Given the description of an element on the screen output the (x, y) to click on. 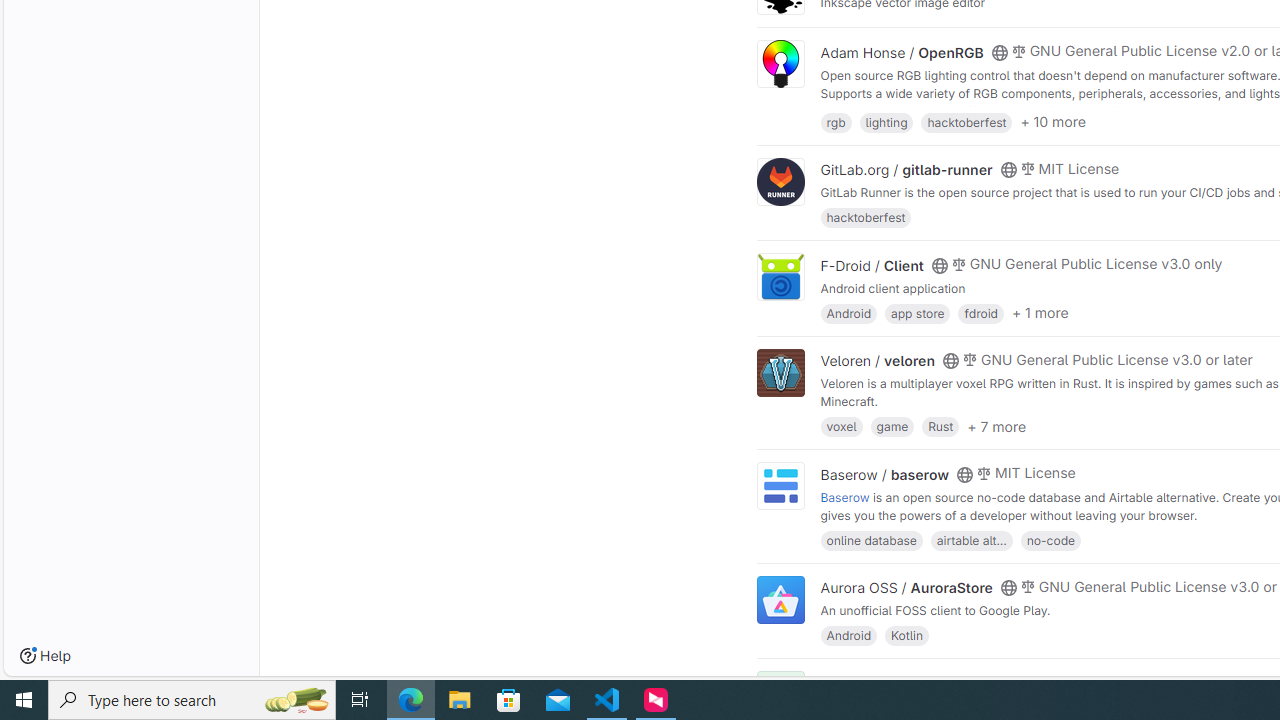
online database (871, 539)
F-Droid / Client (872, 265)
airtable alt... (971, 539)
+ 7 more (996, 425)
game (892, 426)
GitLab.org / gitlab-runner (906, 170)
no-code (1050, 539)
Edouard Klein / falsisign (902, 682)
hacktoberfest (866, 217)
app store (917, 312)
Rust (940, 426)
Help (45, 655)
Class: s16 (999, 683)
Veloren / veloren (877, 361)
fdroid (980, 312)
